Given the description of an element on the screen output the (x, y) to click on. 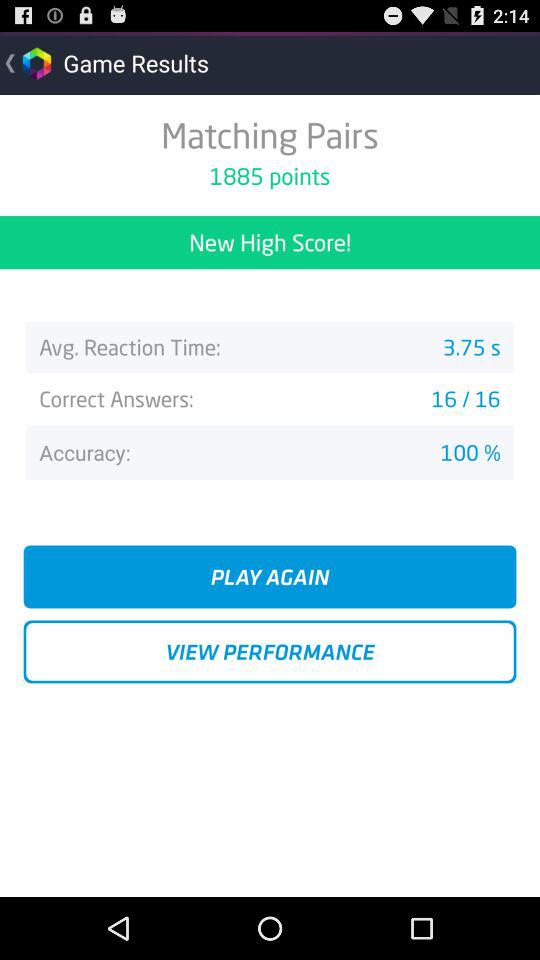
choose play again icon (269, 576)
